Given the description of an element on the screen output the (x, y) to click on. 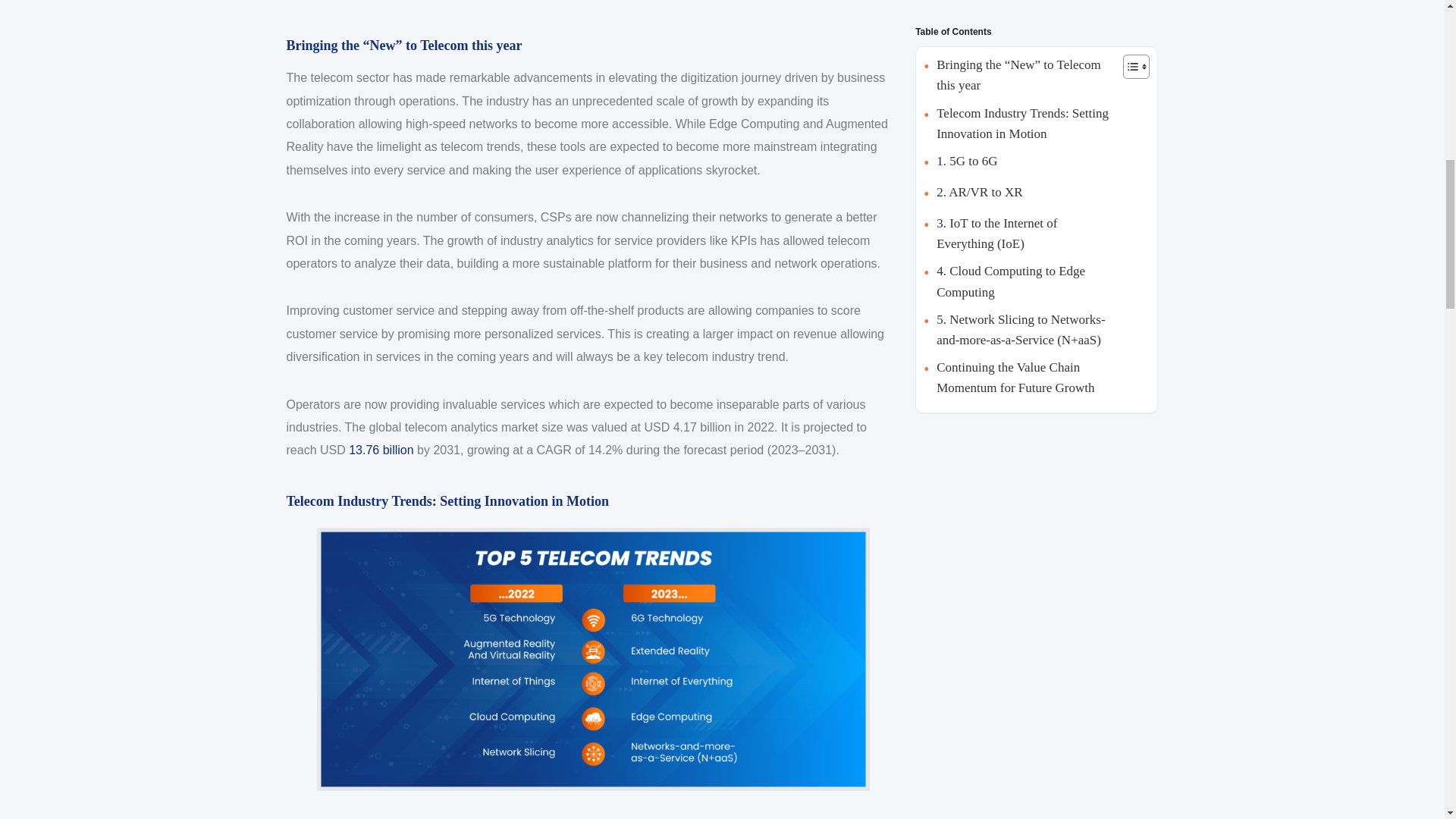
1. 5G to 6G (960, 162)
4. Cloud Computing to Edge Computing (1019, 281)
Continuing the Value Chain Momentum for Future Growth (1019, 377)
Telecom Industry Trends: Setting Innovation in Motion (1019, 123)
